Given the description of an element on the screen output the (x, y) to click on. 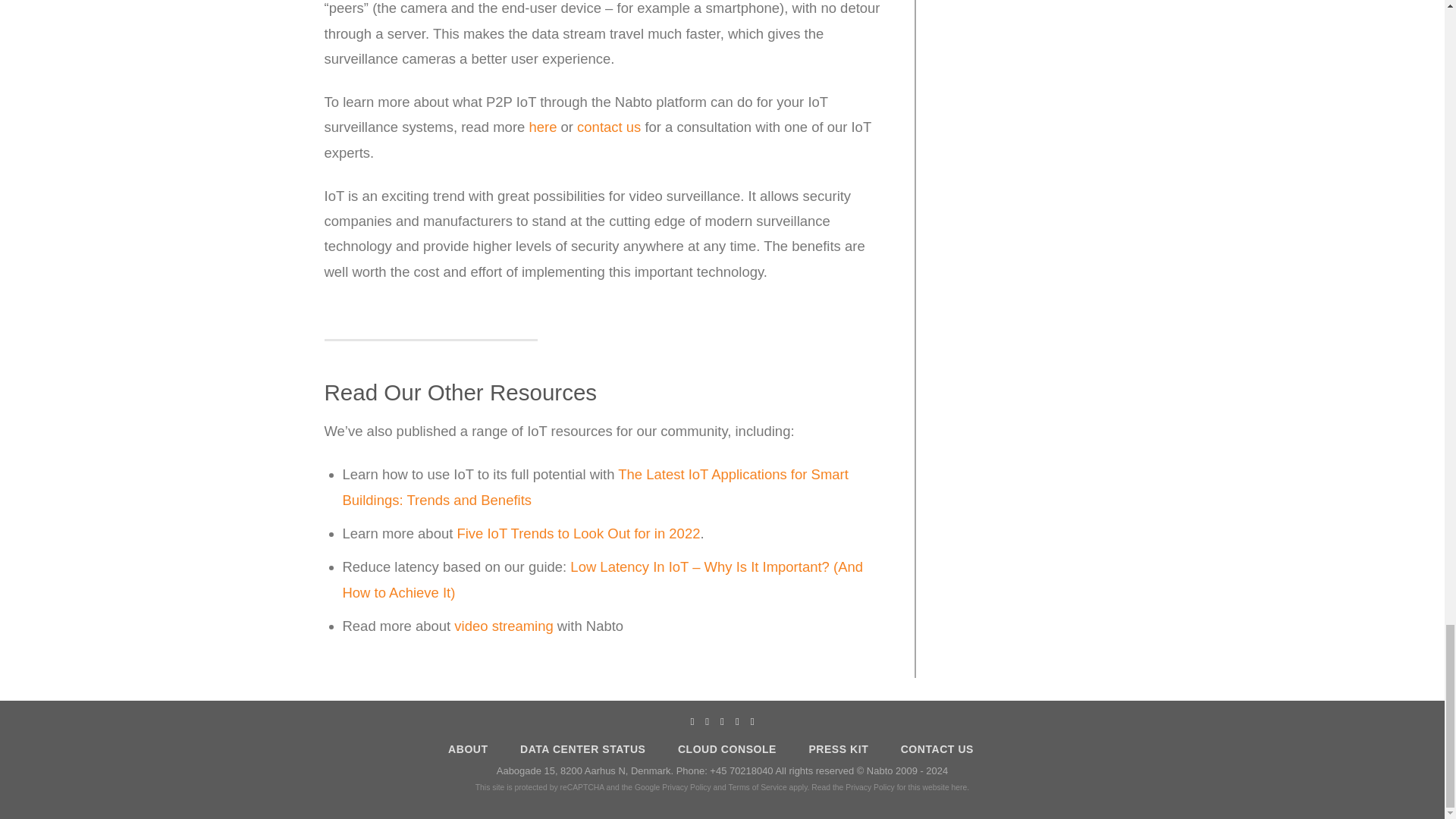
contact us (608, 126)
here (542, 126)
Five IoT Trends to Look Out for in 2022 (578, 533)
video streaming (503, 625)
CLOUD CONSOLE (727, 748)
ABOUT (467, 748)
DATA CENTER STATUS (582, 748)
